Given the description of an element on the screen output the (x, y) to click on. 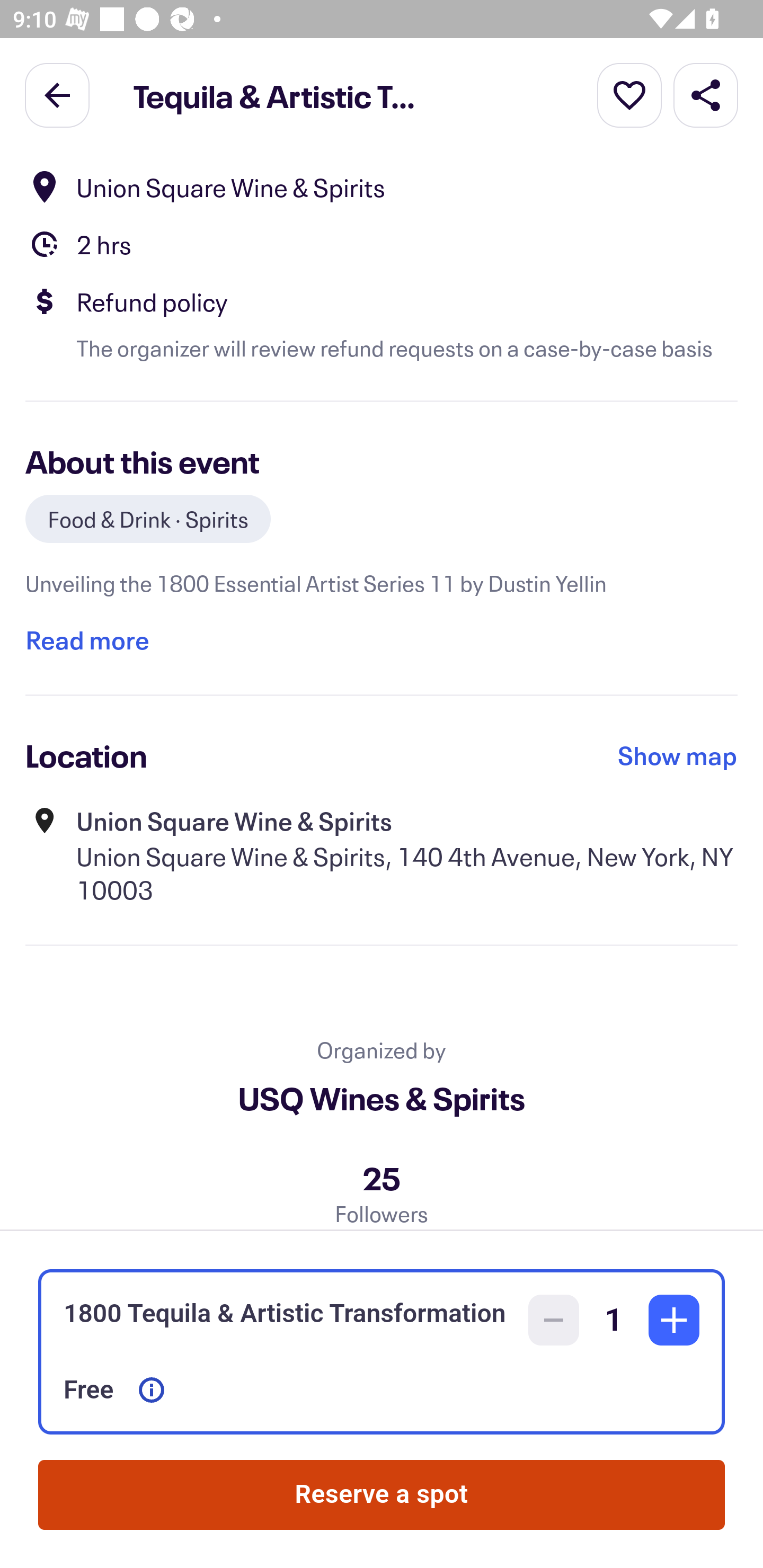
Back (57, 94)
More (629, 94)
Share (705, 94)
Location Union Square Wine & Spirits (381, 186)
Read more (87, 639)
Show map (677, 754)
USQ Wines & Spirits (381, 1097)
Decrease (553, 1320)
Increase (673, 1320)
Show more information (151, 1389)
Reserve a spot (381, 1494)
